Given the description of an element on the screen output the (x, y) to click on. 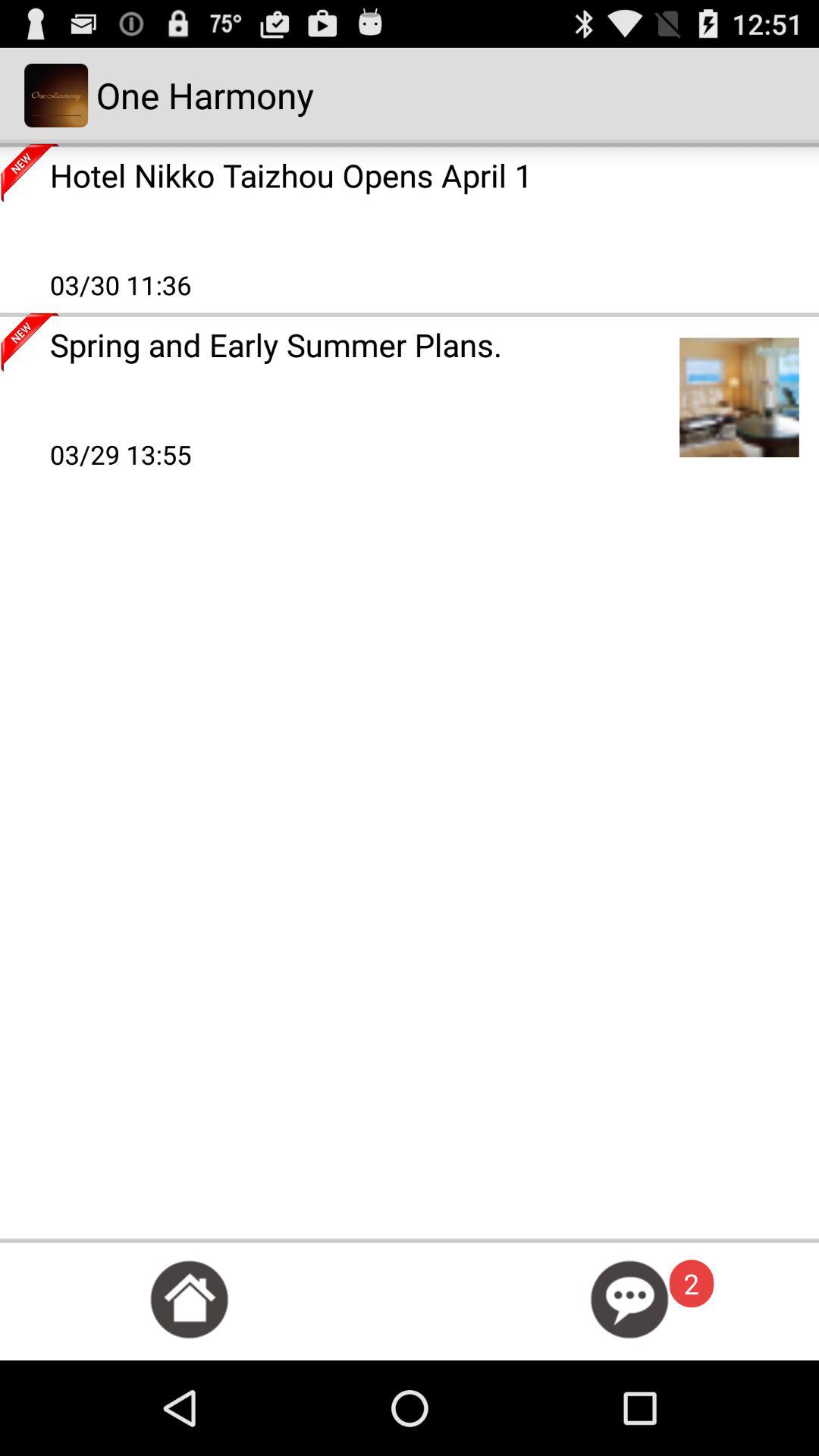
go to home (189, 1299)
